Given the description of an element on the screen output the (x, y) to click on. 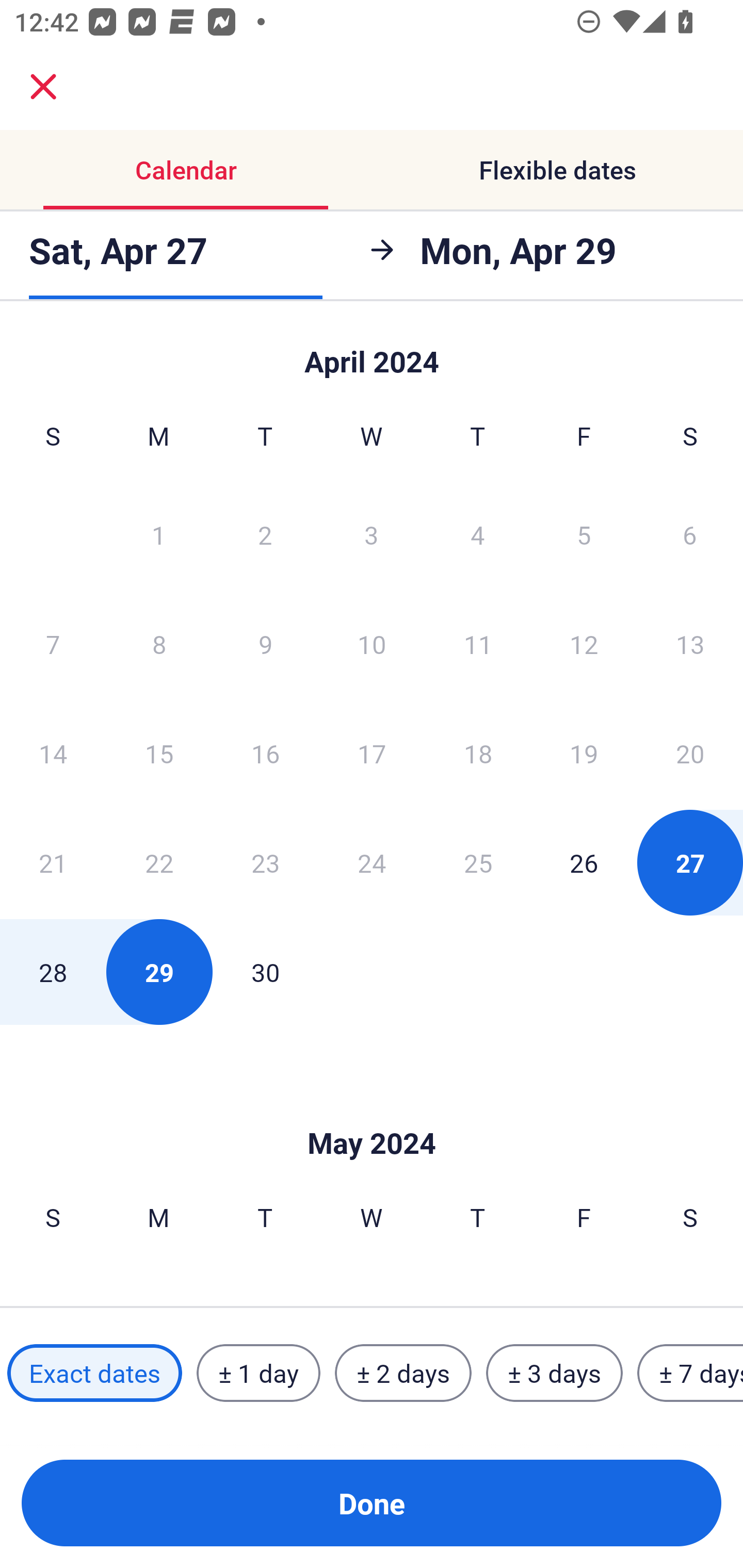
close. (43, 86)
Flexible dates (557, 170)
Skip to Done (371, 352)
1 Monday, April 1, 2024 (158, 534)
2 Tuesday, April 2, 2024 (264, 534)
3 Wednesday, April 3, 2024 (371, 534)
4 Thursday, April 4, 2024 (477, 534)
5 Friday, April 5, 2024 (583, 534)
6 Saturday, April 6, 2024 (689, 534)
7 Sunday, April 7, 2024 (53, 643)
8 Monday, April 8, 2024 (159, 643)
9 Tuesday, April 9, 2024 (265, 643)
10 Wednesday, April 10, 2024 (371, 643)
11 Thursday, April 11, 2024 (477, 643)
12 Friday, April 12, 2024 (584, 643)
13 Saturday, April 13, 2024 (690, 643)
14 Sunday, April 14, 2024 (53, 752)
15 Monday, April 15, 2024 (159, 752)
16 Tuesday, April 16, 2024 (265, 752)
17 Wednesday, April 17, 2024 (371, 752)
18 Thursday, April 18, 2024 (477, 752)
19 Friday, April 19, 2024 (584, 752)
20 Saturday, April 20, 2024 (690, 752)
21 Sunday, April 21, 2024 (53, 862)
22 Monday, April 22, 2024 (159, 862)
23 Tuesday, April 23, 2024 (265, 862)
24 Wednesday, April 24, 2024 (371, 862)
25 Thursday, April 25, 2024 (477, 862)
26 Friday, April 26, 2024 (584, 862)
30 Tuesday, April 30, 2024 (265, 971)
Skip to Done (371, 1112)
Exact dates (94, 1372)
± 1 day (258, 1372)
± 2 days (403, 1372)
± 3 days (553, 1372)
± 7 days (690, 1372)
Done (371, 1502)
